Given the description of an element on the screen output the (x, y) to click on. 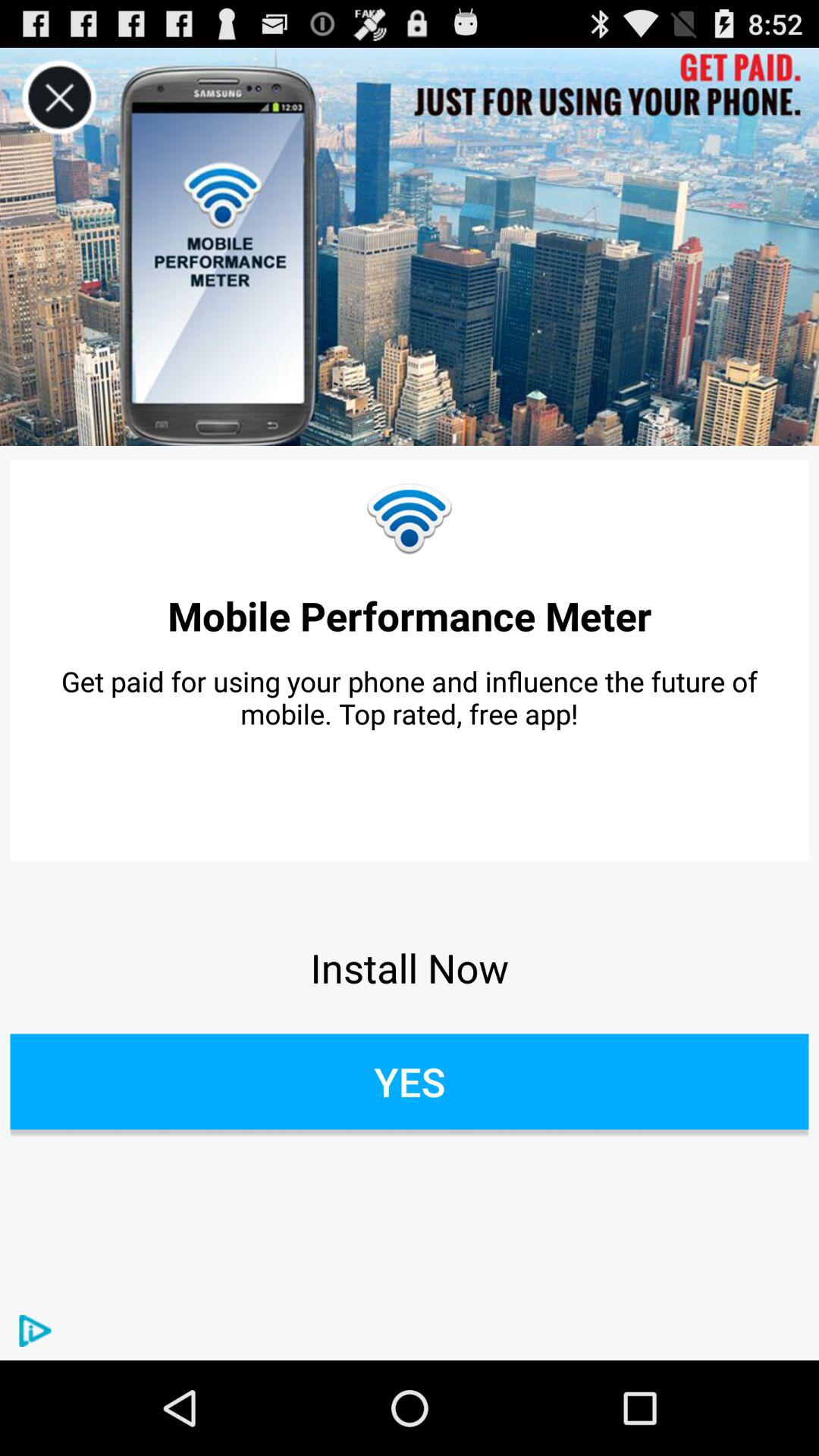
click item above the install now item (409, 697)
